Given the description of an element on the screen output the (x, y) to click on. 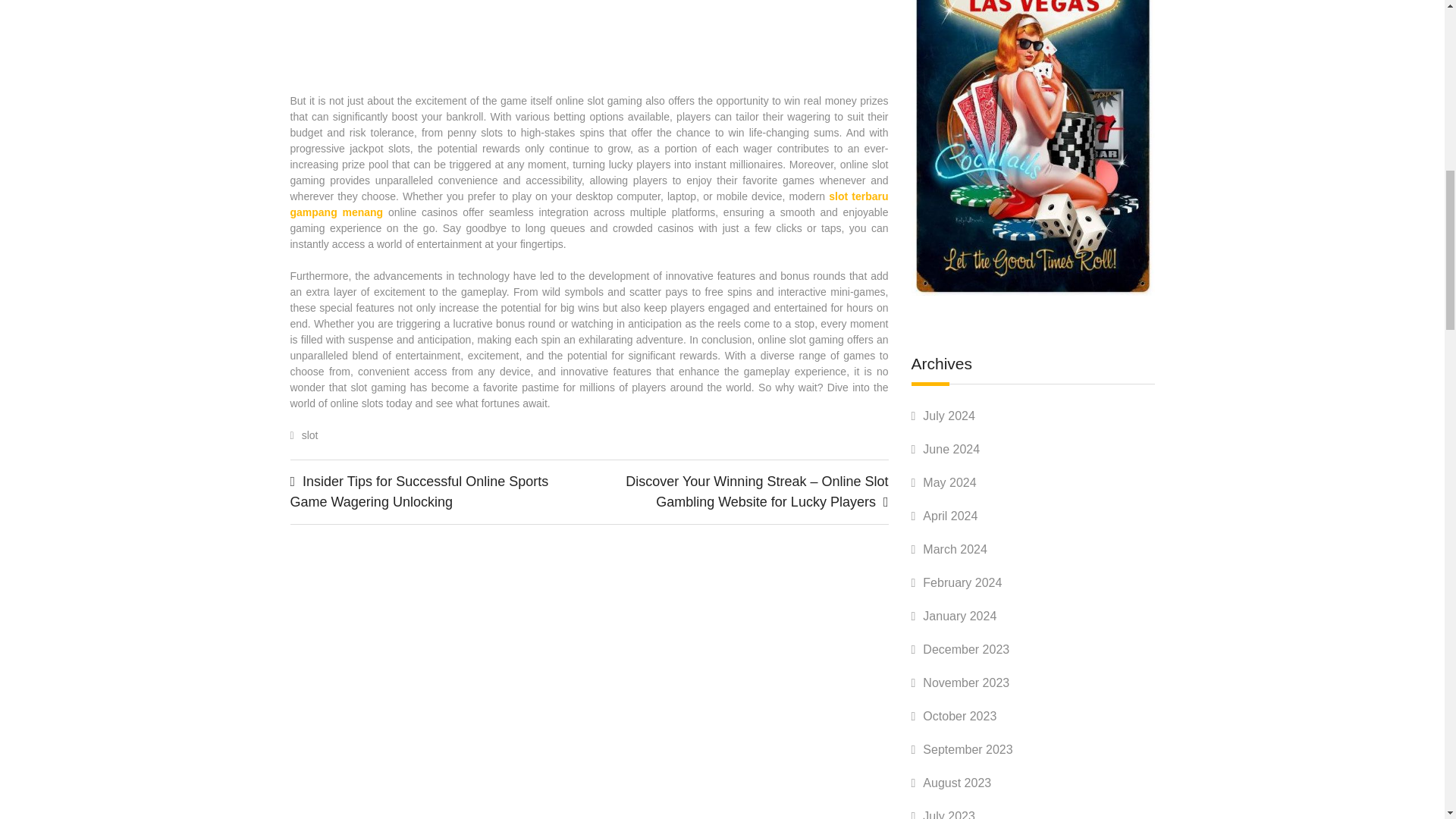
September 2023 (967, 748)
March 2024 (955, 549)
August 2023 (957, 782)
January 2024 (959, 615)
slot (309, 435)
July 2024 (949, 415)
October 2023 (959, 716)
slot terbaru gampang menang (588, 204)
November 2023 (966, 682)
December 2023 (966, 649)
